Given the description of an element on the screen output the (x, y) to click on. 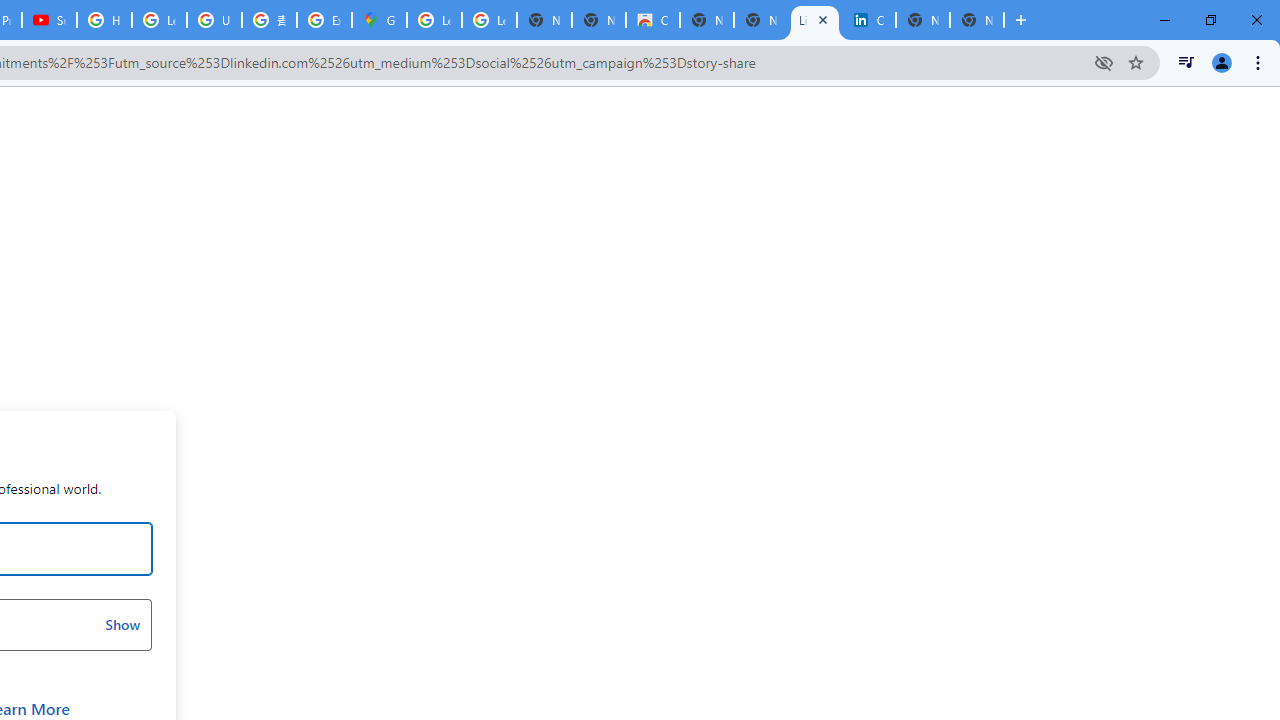
Show (122, 624)
LinkedIn Login, Sign in | LinkedIn (815, 20)
Google Maps (379, 20)
